Given the description of an element on the screen output the (x, y) to click on. 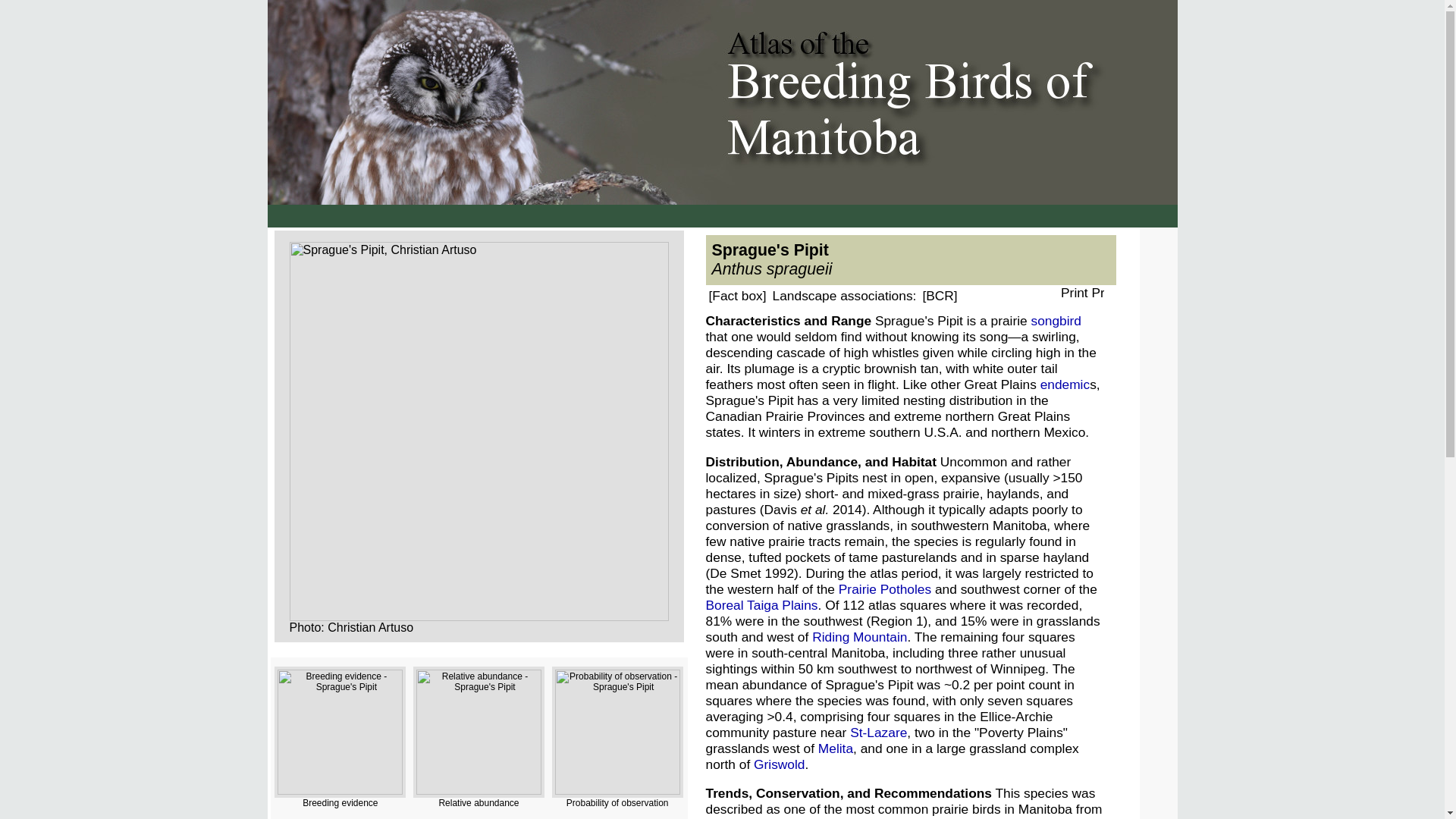
Breeding evidence - Sprague's Pipit (340, 731)
Relative abundance - Sprague's Pipit (478, 731)
Print (1082, 292)
Probability of observation - Sprague's Pipit (616, 731)
